Given the description of an element on the screen output the (x, y) to click on. 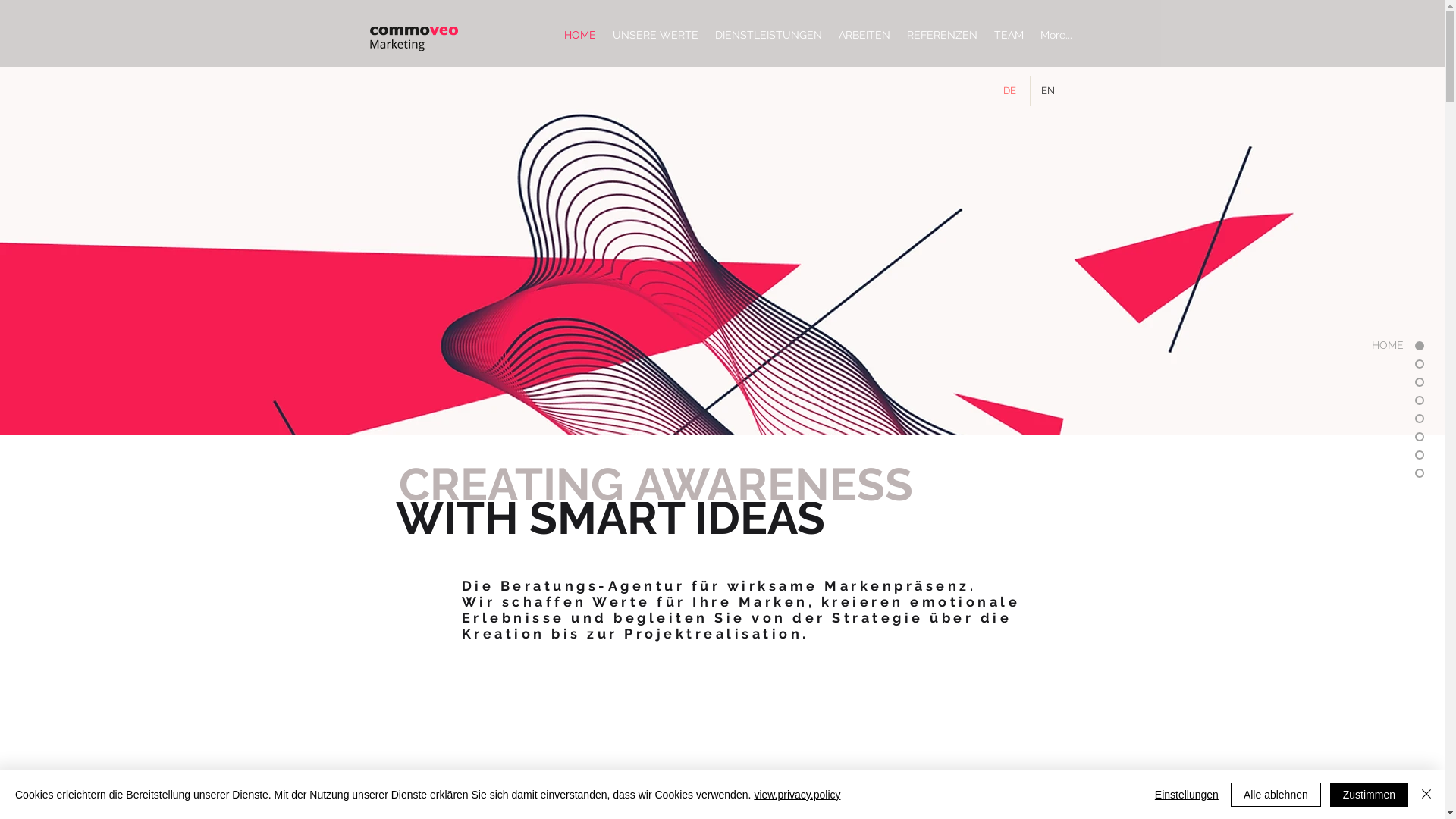
DE Element type: text (1010, 90)
ARBEITEN Element type: text (863, 34)
Alle ablehnen Element type: text (1275, 794)
EN Element type: text (1048, 90)
HOME Element type: text (1360, 345)
view.privacy.policy Element type: text (796, 794)
HOME Element type: text (579, 34)
TEAM Element type: text (1008, 34)
UNSERE WERTE Element type: text (654, 34)
Zustimmen Element type: text (1369, 794)
DIENSTLEISTUNGEN Element type: text (768, 34)
REFERENZEN Element type: text (941, 34)
